Given the description of an element on the screen output the (x, y) to click on. 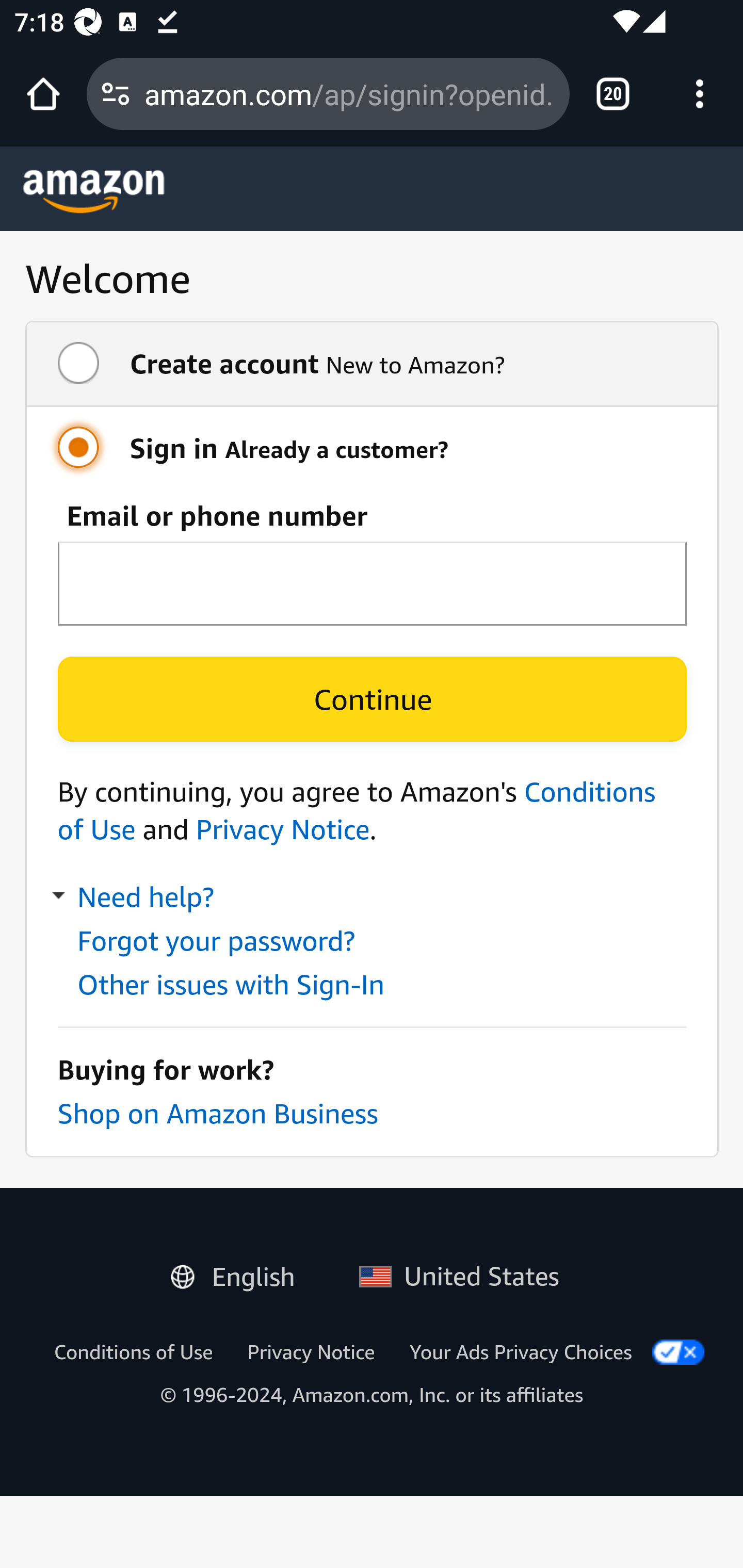
Open the home page (43, 93)
Connection is secure (115, 93)
Switch or close tabs (612, 93)
Customize and control Google Chrome (699, 93)
Amazon (94, 191)
Continue (371, 698)
Conditions of Use (356, 810)
Privacy Notice (282, 829)
Need help? (134, 897)
Forgot your password? (215, 940)
Other issues with Sign-In (230, 984)
Shop on Amazon Business (216, 1113)
Choose a language for shopping. English (239, 1271)
Conditions of Use (132, 1351)
Privacy Notice (310, 1351)
Your Ads Privacy Choices (520, 1351)
